Given the description of an element on the screen output the (x, y) to click on. 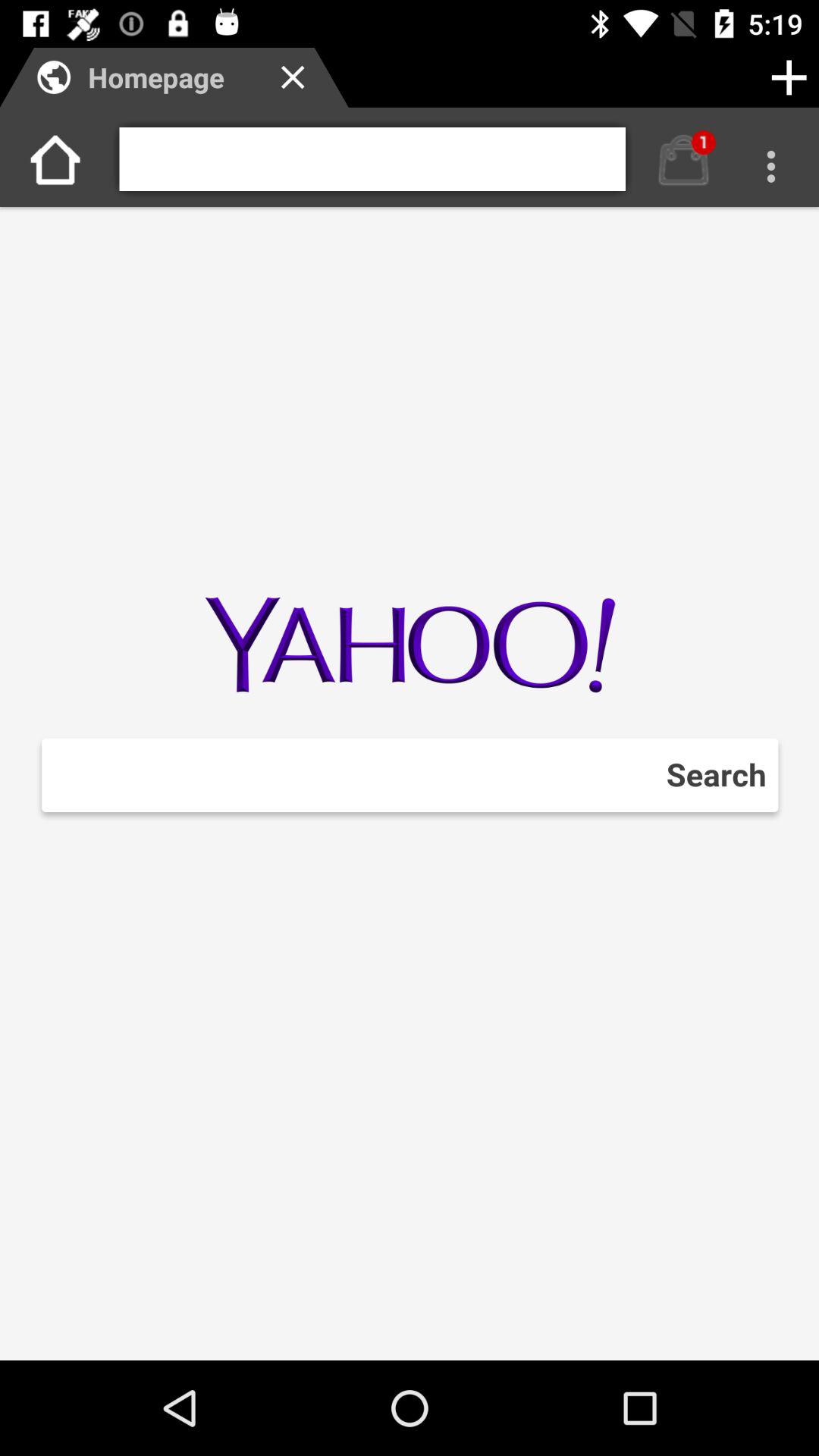
home page button (683, 159)
